Given the description of an element on the screen output the (x, y) to click on. 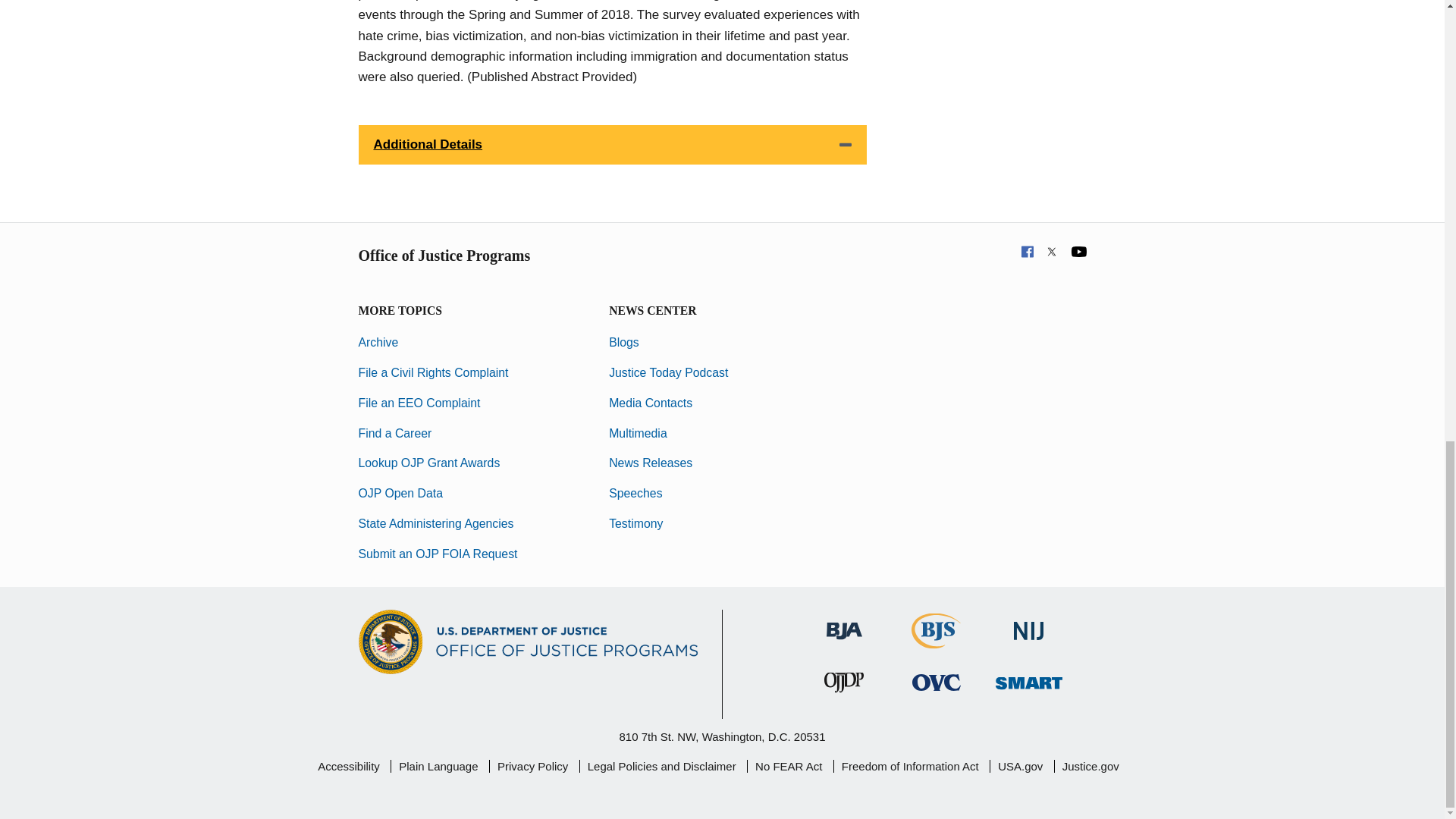
File an EEO Complaint (419, 402)
Find a Career (394, 432)
Archive (377, 341)
Additional Details (612, 144)
Lookup OJP Grant Awards (428, 462)
File a Civil Rights Complaint (433, 372)
